Given the description of an element on the screen output the (x, y) to click on. 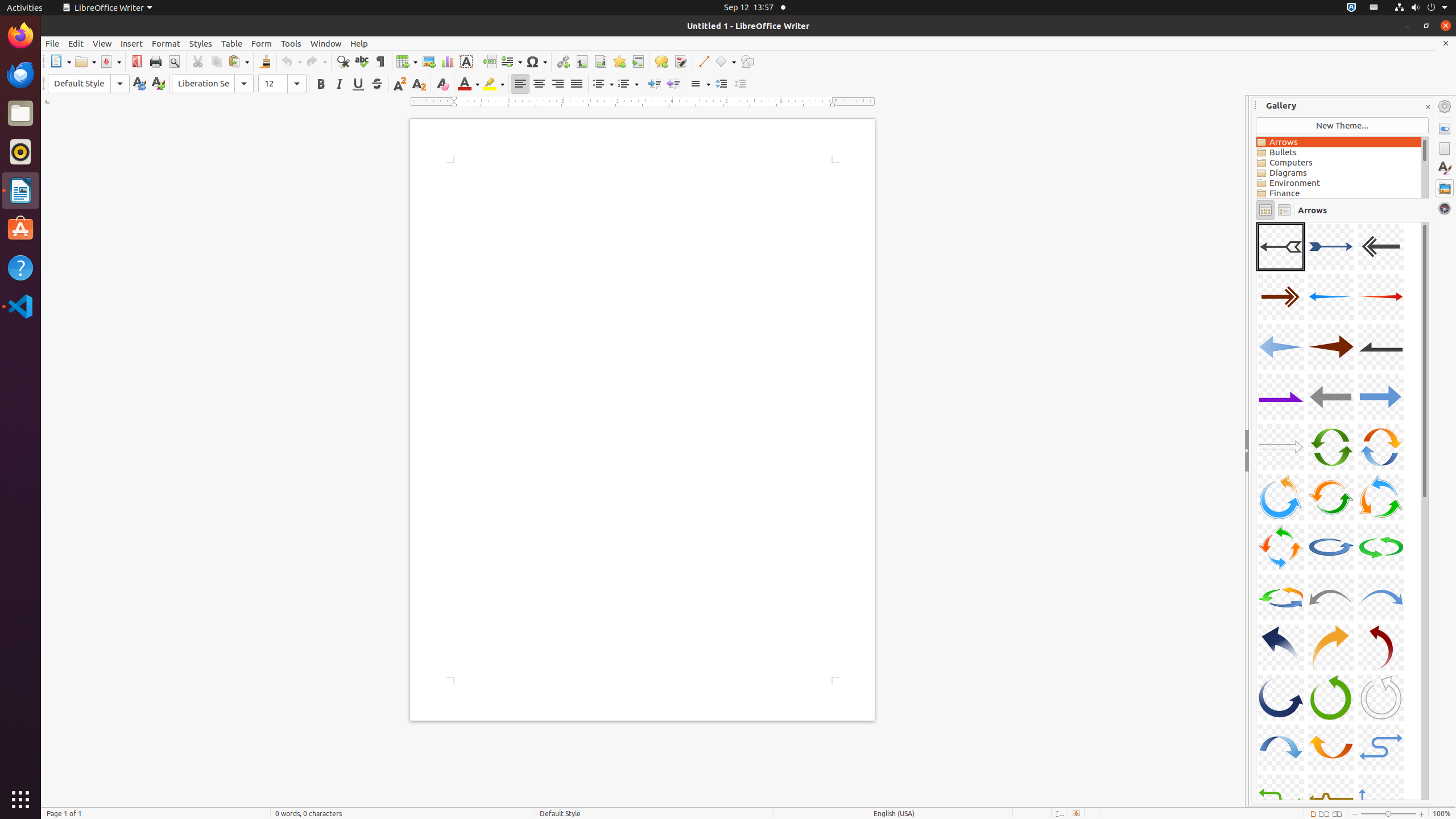
A16-CircleArrow Element type: list-item (1280, 496)
A10-Arrow-Purple-Right Element type: list-item (1280, 396)
A02-Arrow-DarkBlue-Right Element type: list-item (1330, 246)
A31-CurvedArrow-LightBlue Element type: list-item (1280, 746)
A22-CircleArrow Element type: list-item (1280, 596)
